Given the description of an element on the screen output the (x, y) to click on. 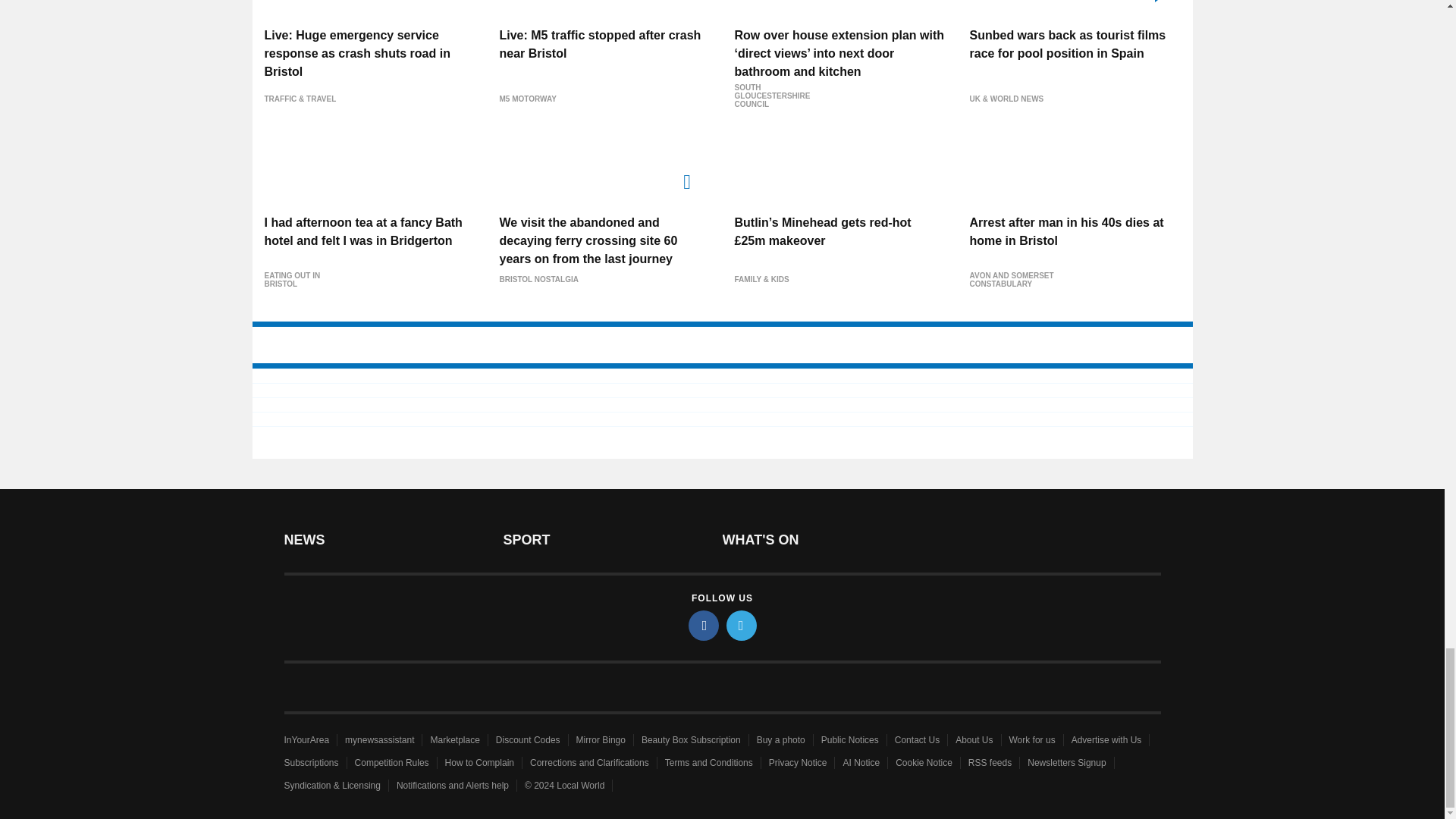
twitter (741, 625)
facebook (703, 625)
